Given the description of an element on the screen output the (x, y) to click on. 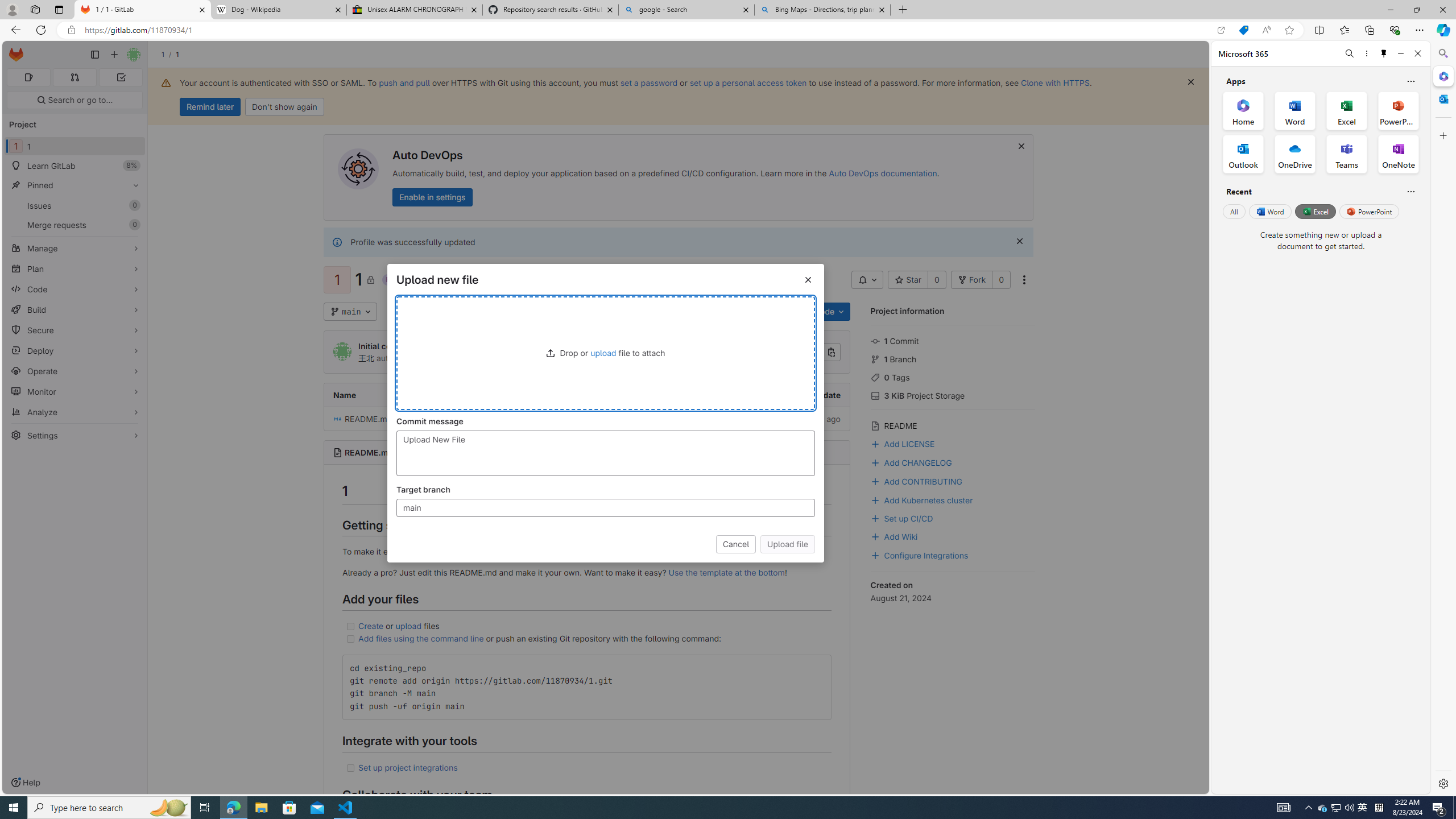
Create or upload files (586, 626)
Deploy (74, 350)
Auto DevOps documentation (882, 172)
push and pull (403, 82)
Initial commit (533, 418)
0 Tags (952, 376)
0 (1000, 280)
Clone with HTTPS (1054, 82)
Unpin Issues (132, 205)
Build (74, 309)
Upload file (787, 543)
set up a personal access token (747, 82)
Add Wiki (894, 535)
Copy commit SHA (831, 352)
